Given the description of an element on the screen output the (x, y) to click on. 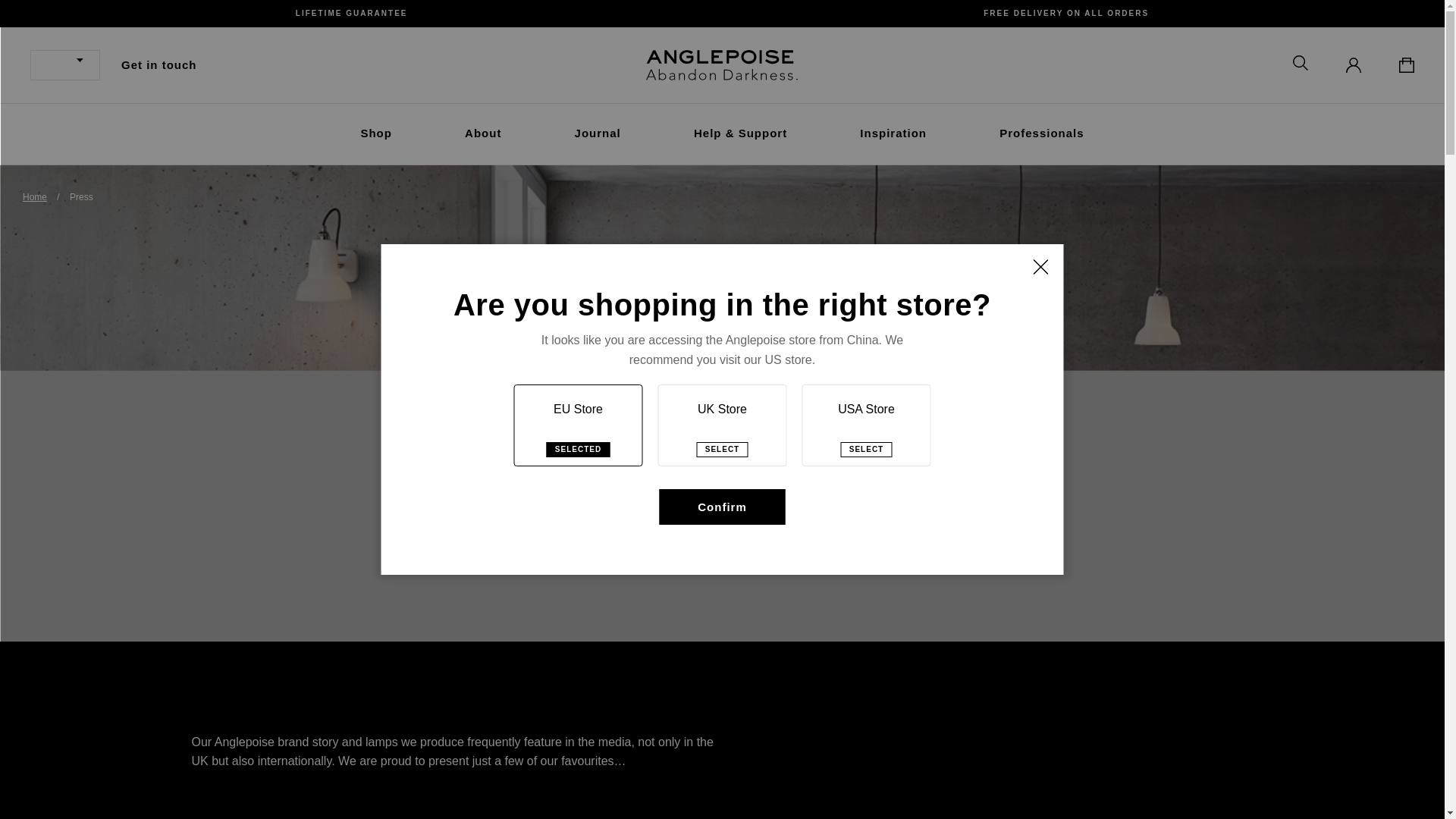
FREE DELIVERY ON ALL ORDERS (1066, 13)
Get in touch (158, 64)
LIFETIME GUARANTEE (351, 13)
